Given the description of an element on the screen output the (x, y) to click on. 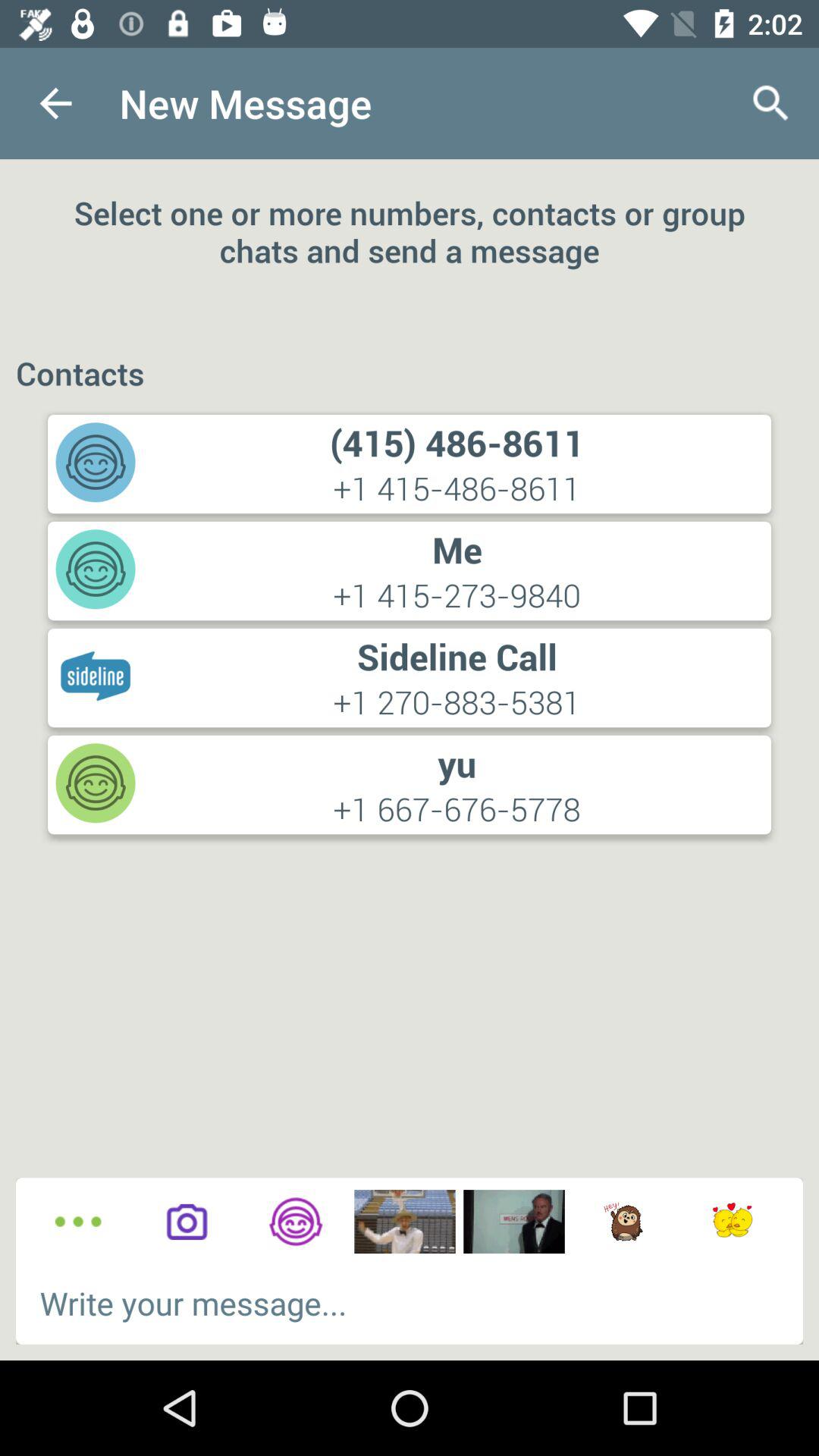
choose the app next to the new message icon (771, 103)
